Given the description of an element on the screen output the (x, y) to click on. 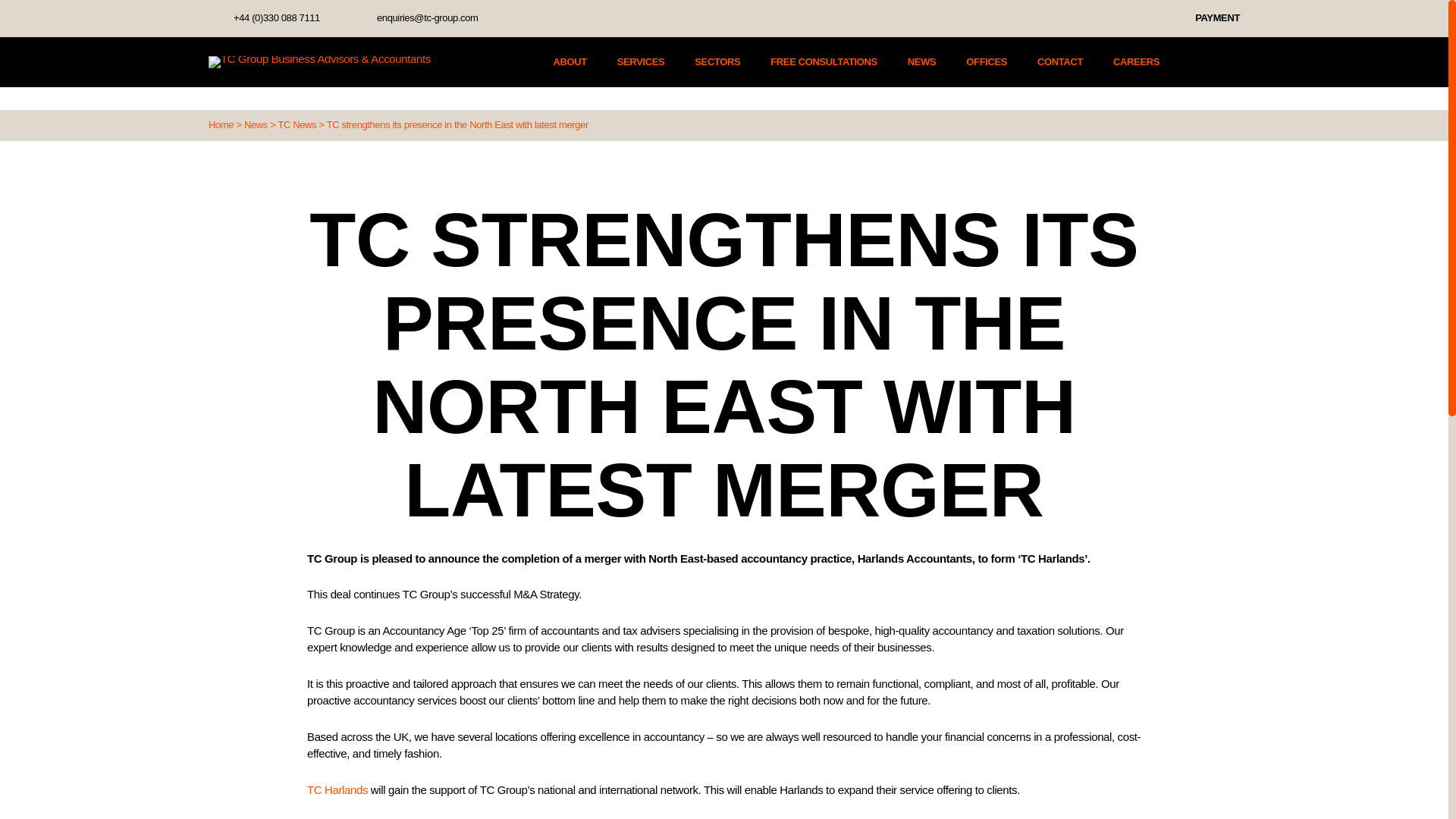
LinkedIn (538, 18)
SERVICES (641, 61)
OFFICES (986, 61)
News (255, 124)
YouTube (598, 18)
SEARCH (1191, 61)
NEWS (921, 61)
Home (220, 124)
TC News (296, 124)
CAREERS (1135, 61)
Twitter (509, 18)
SECTORS (716, 61)
CONTACT (1059, 61)
Instagram (567, 18)
PAYMENT (1217, 18)
